Given the description of an element on the screen output the (x, y) to click on. 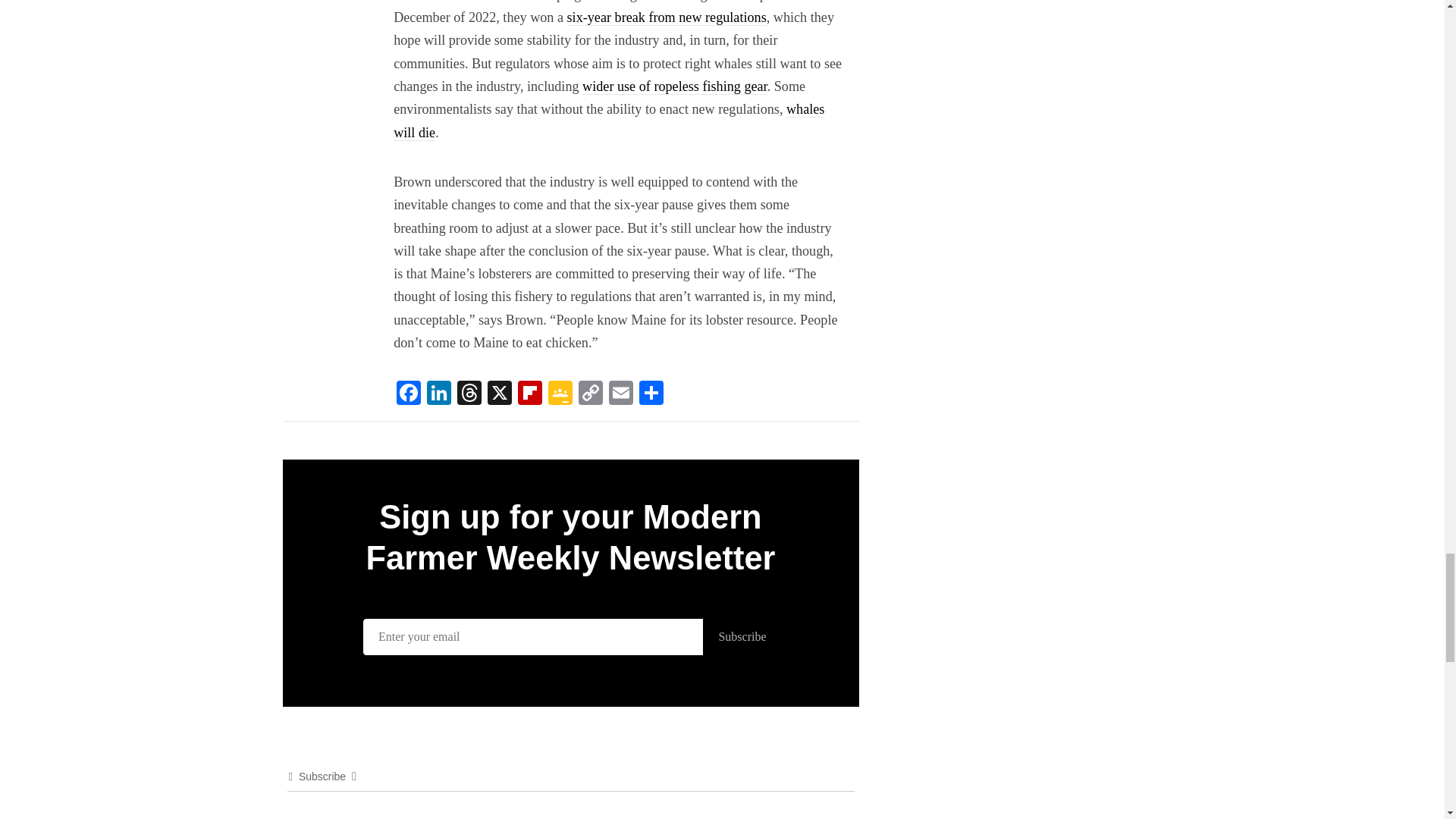
LinkedIn (438, 394)
Google Classroom (559, 394)
Copy Link (590, 394)
Email (620, 394)
Flipboard (529, 394)
Facebook (408, 394)
Threads (469, 394)
X (499, 394)
